Given the description of an element on the screen output the (x, y) to click on. 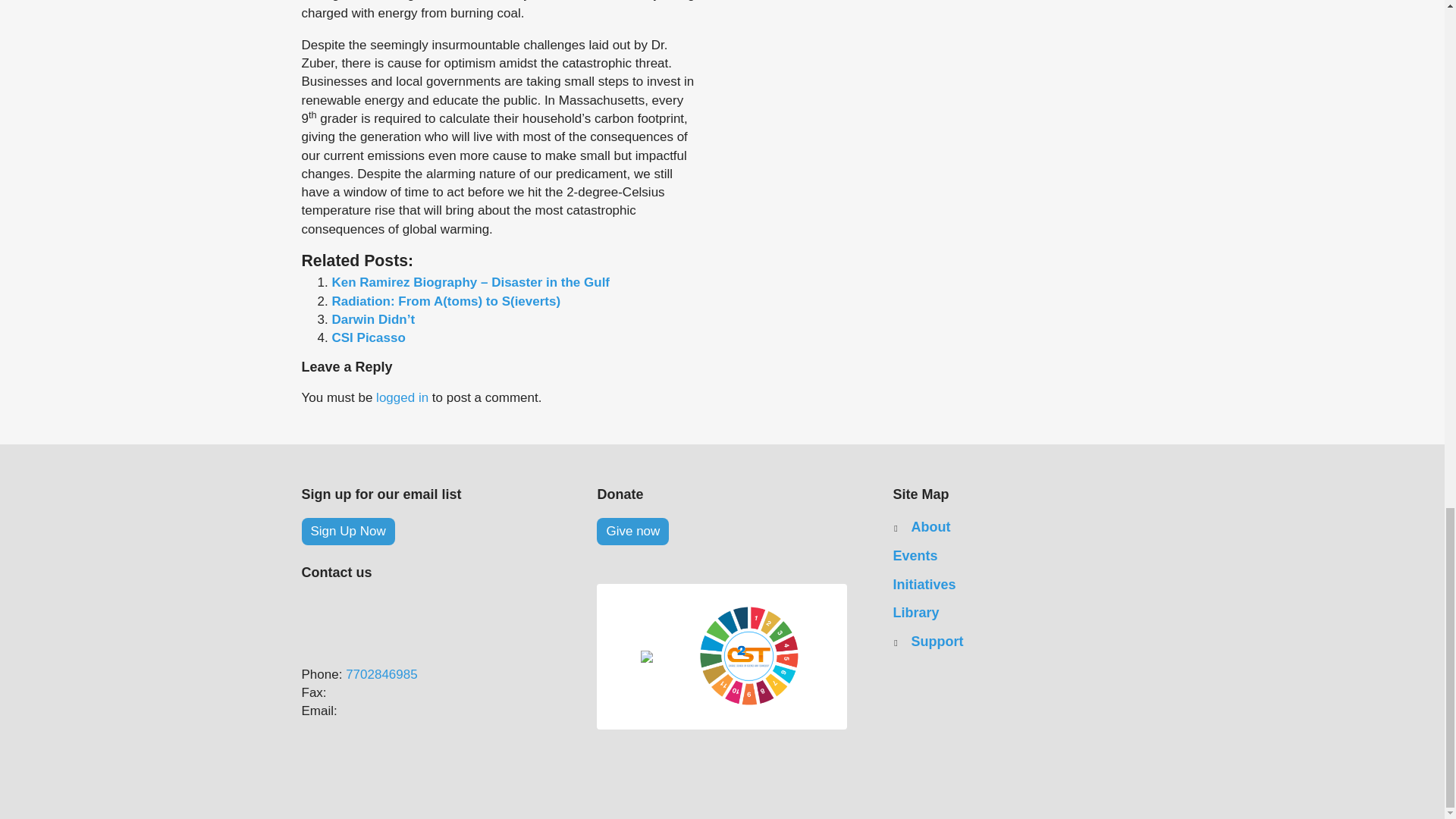
Support (936, 641)
CSI Picasso (368, 337)
Library (1017, 613)
Sign Up Now (347, 531)
About (930, 527)
Initiatives (1017, 585)
Events (1017, 556)
7702846985 (381, 674)
logged in (401, 397)
Give now (632, 531)
